Given the description of an element on the screen output the (x, y) to click on. 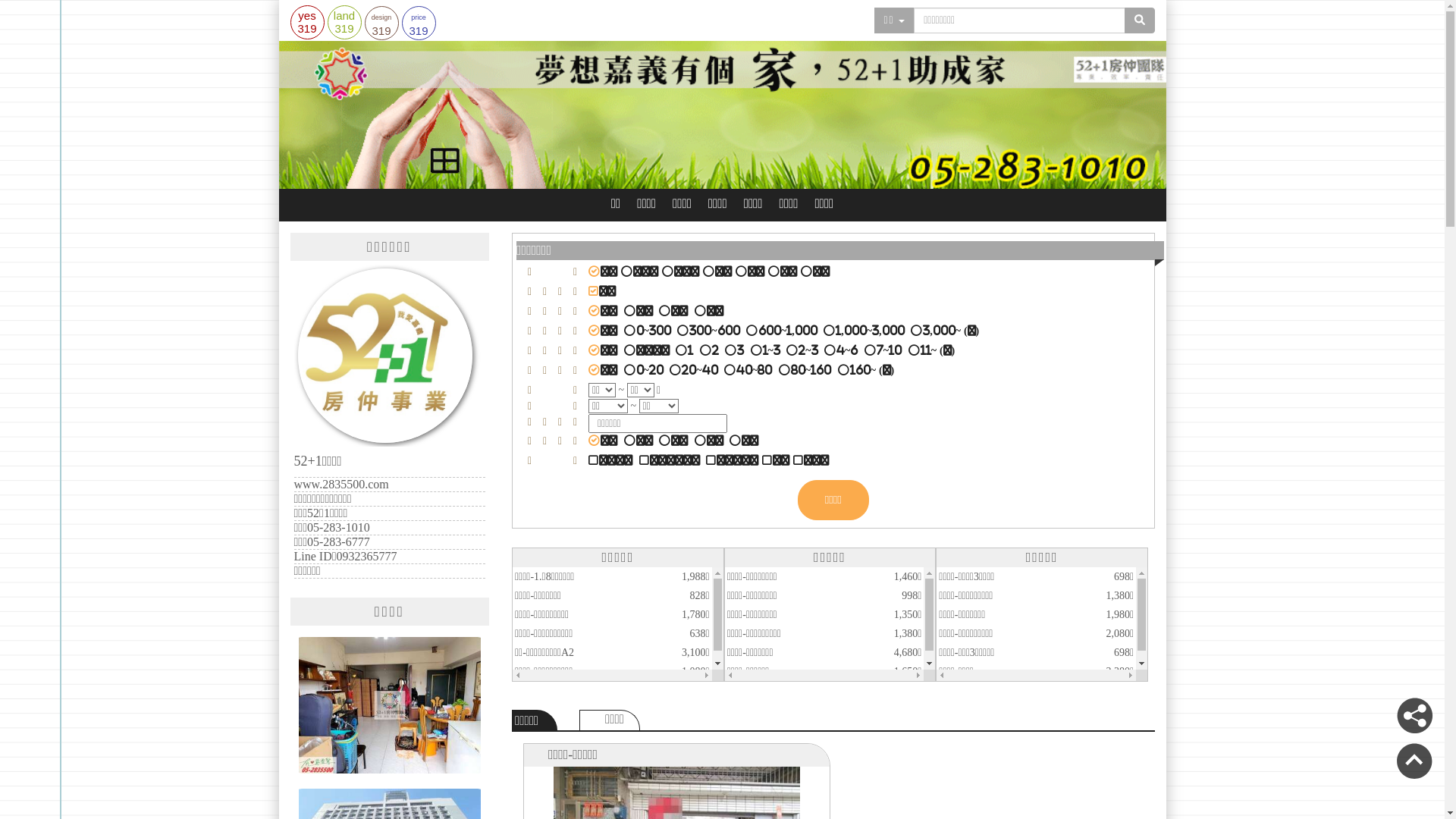
land
319 Element type: text (344, 21)
design
319 Element type: text (381, 23)
www.2835500.com Element type: text (341, 483)
price
319 Element type: text (418, 23)
yes
319 Element type: text (306, 21)
